Given the description of an element on the screen output the (x, y) to click on. 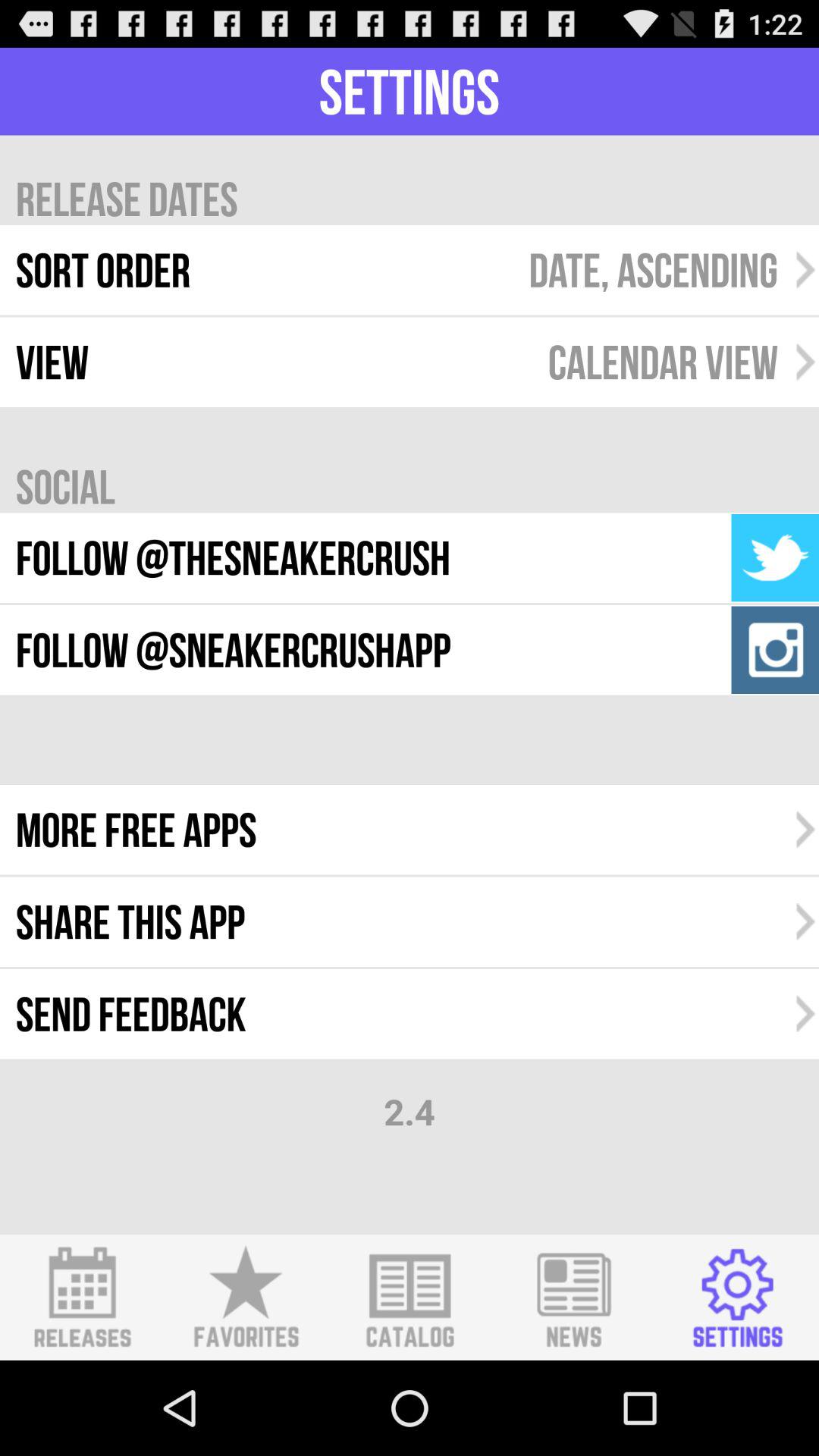
launch the item next to view item (663, 362)
